Given the description of an element on the screen output the (x, y) to click on. 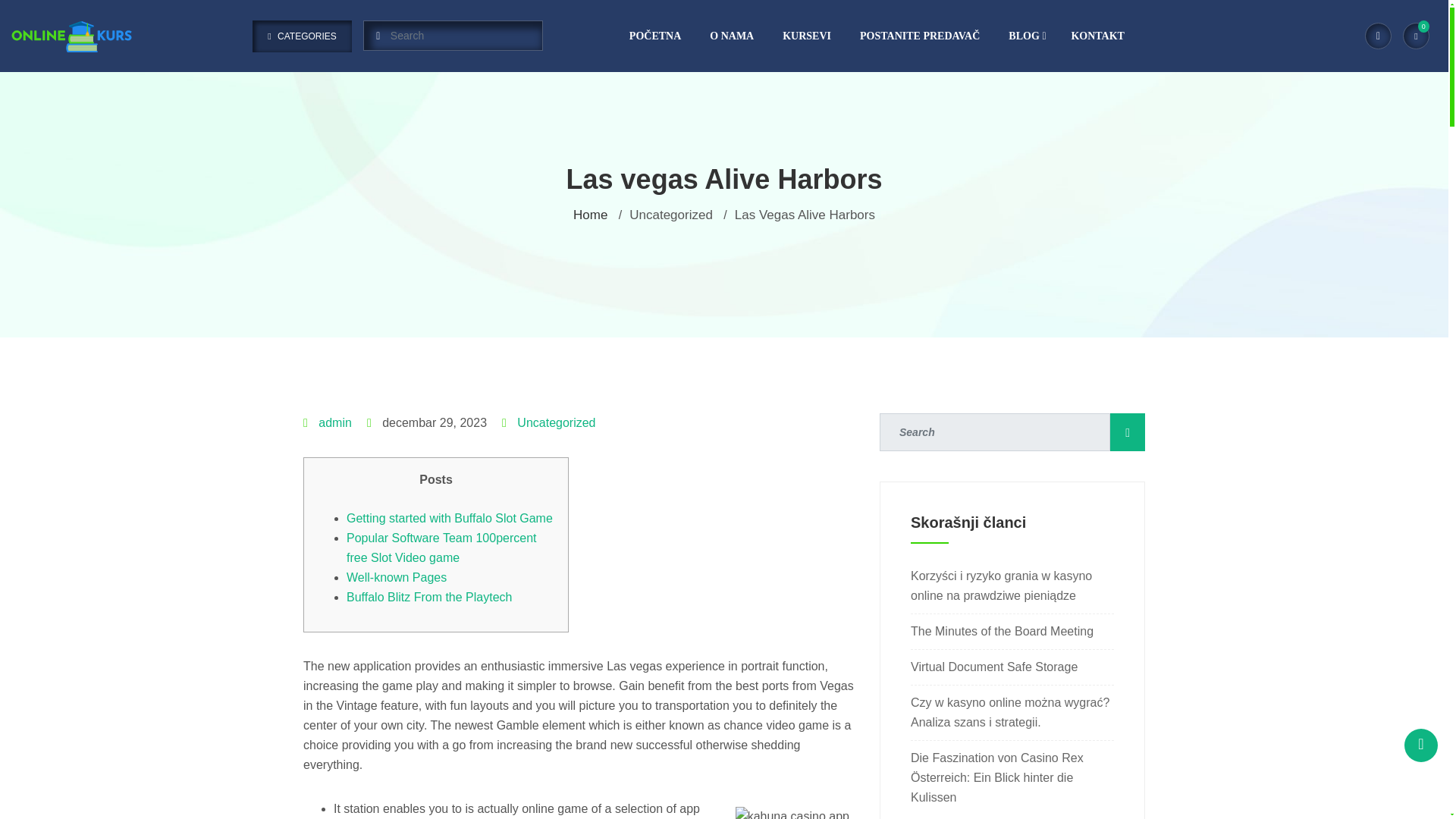
admin (335, 422)
Uncategorized (555, 422)
View your shopping cart (1416, 35)
0 (1416, 35)
Buffalo Blitz From the Playtech (429, 596)
Popular Software Team 100percent free Slot Video game (441, 547)
Home (590, 214)
Getting started with Buffalo Slot Game (449, 517)
Well-known Pages (396, 576)
